Given the description of an element on the screen output the (x, y) to click on. 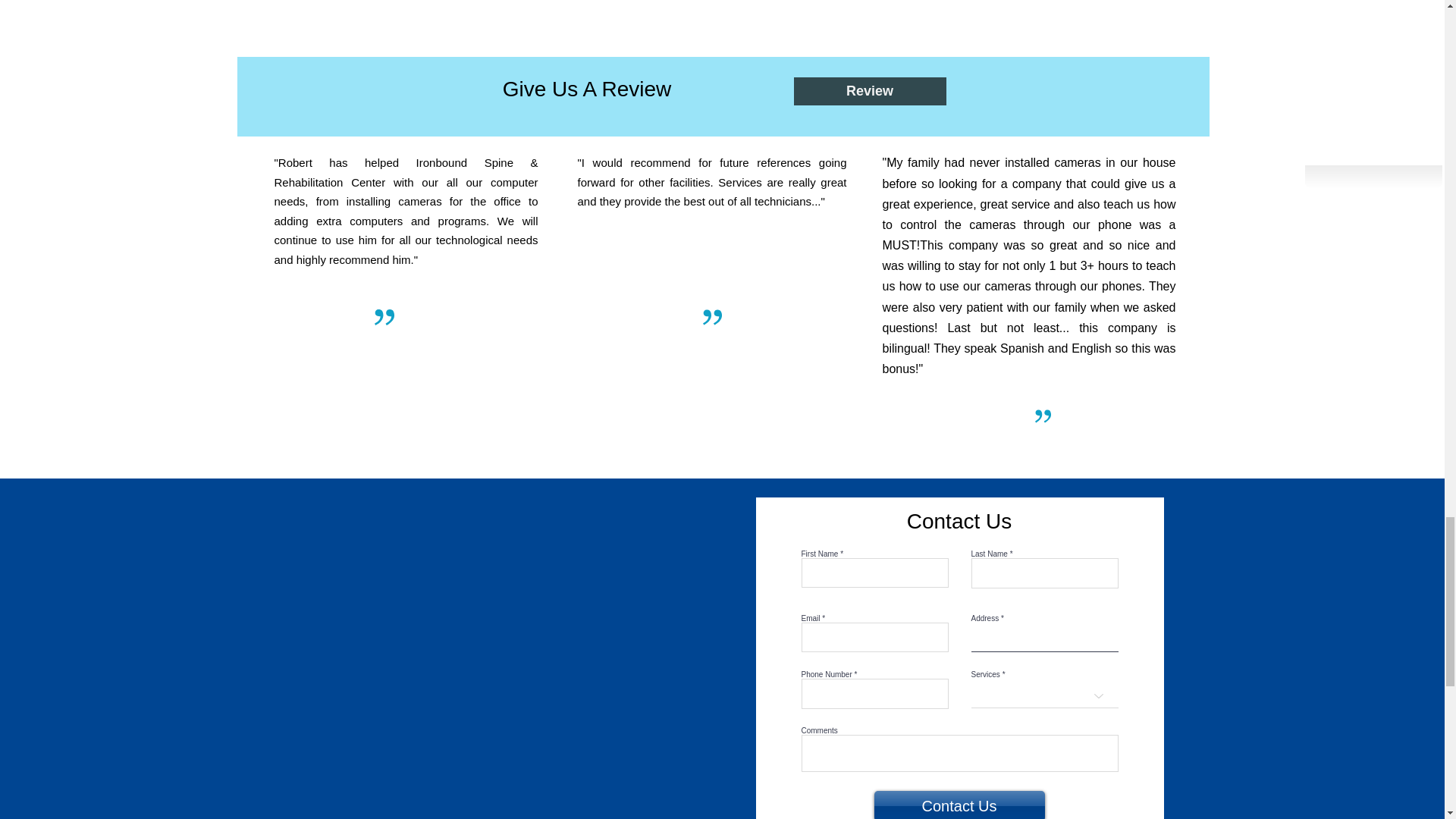
Contact Us (958, 805)
Review (868, 90)
